Given the description of an element on the screen output the (x, y) to click on. 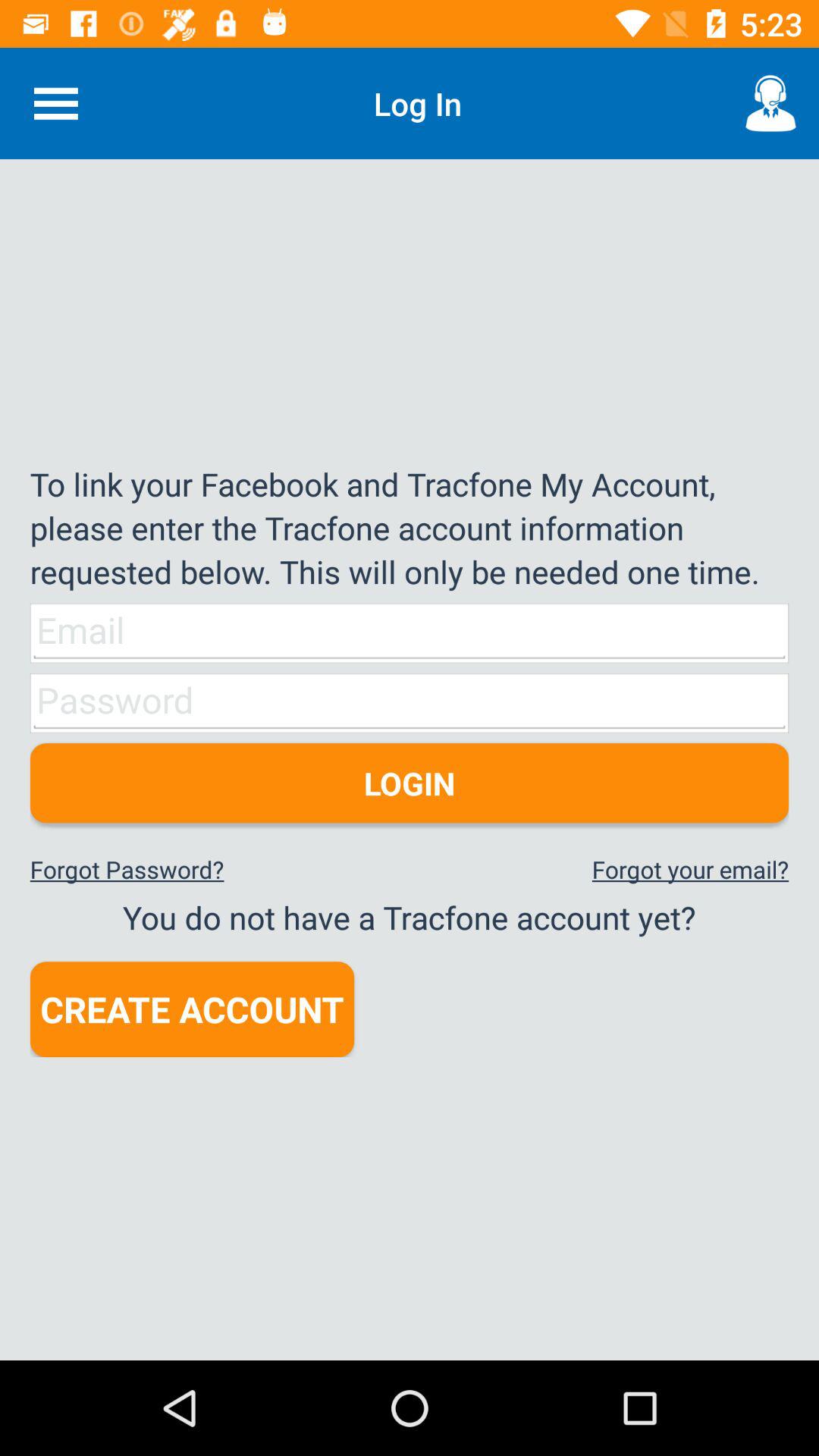
press the item next to the log in (771, 103)
